Given the description of an element on the screen output the (x, y) to click on. 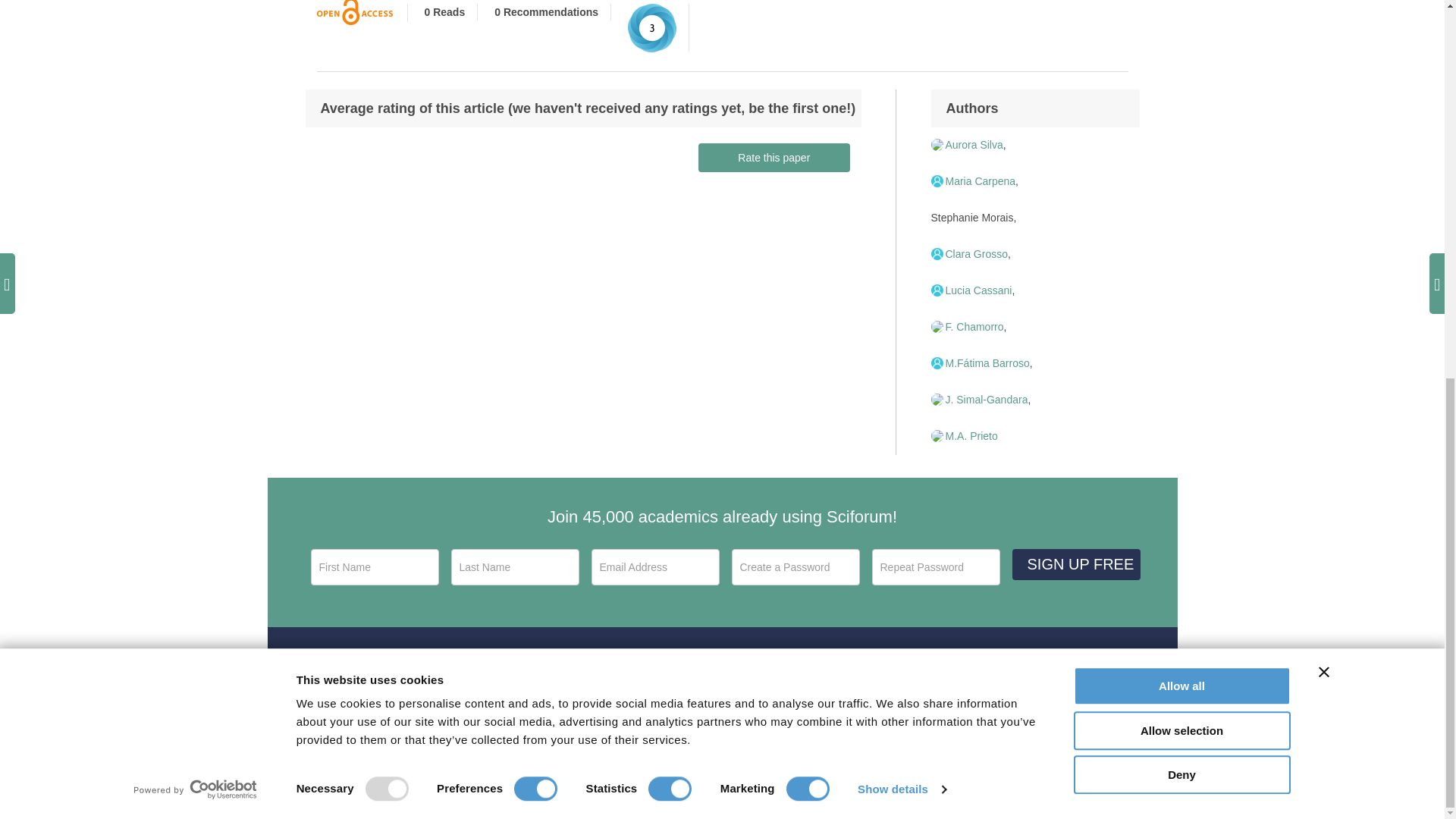
Show details (900, 87)
First name (375, 566)
Sign Up Free (1075, 563)
